Given the description of an element on the screen output the (x, y) to click on. 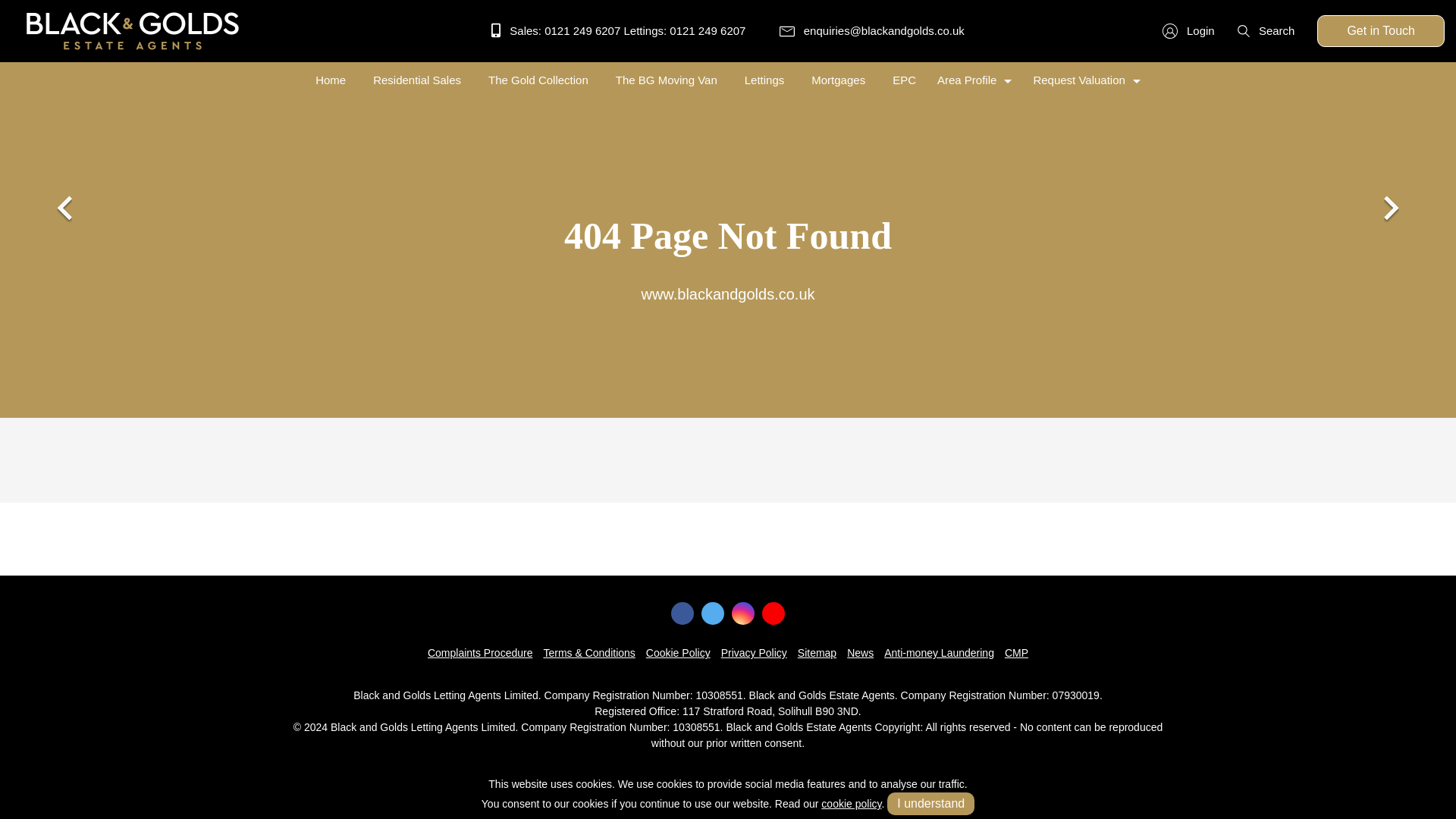
Request Valuation (1085, 80)
Anti-money Laundering (938, 652)
The Gold Collection (537, 80)
The BG Moving Van (666, 80)
CMP (1015, 652)
Complaints Procedure (480, 652)
cookie policy (850, 803)
Residential Sales (416, 80)
EPC (903, 80)
Search (1266, 30)
